Given the description of an element on the screen output the (x, y) to click on. 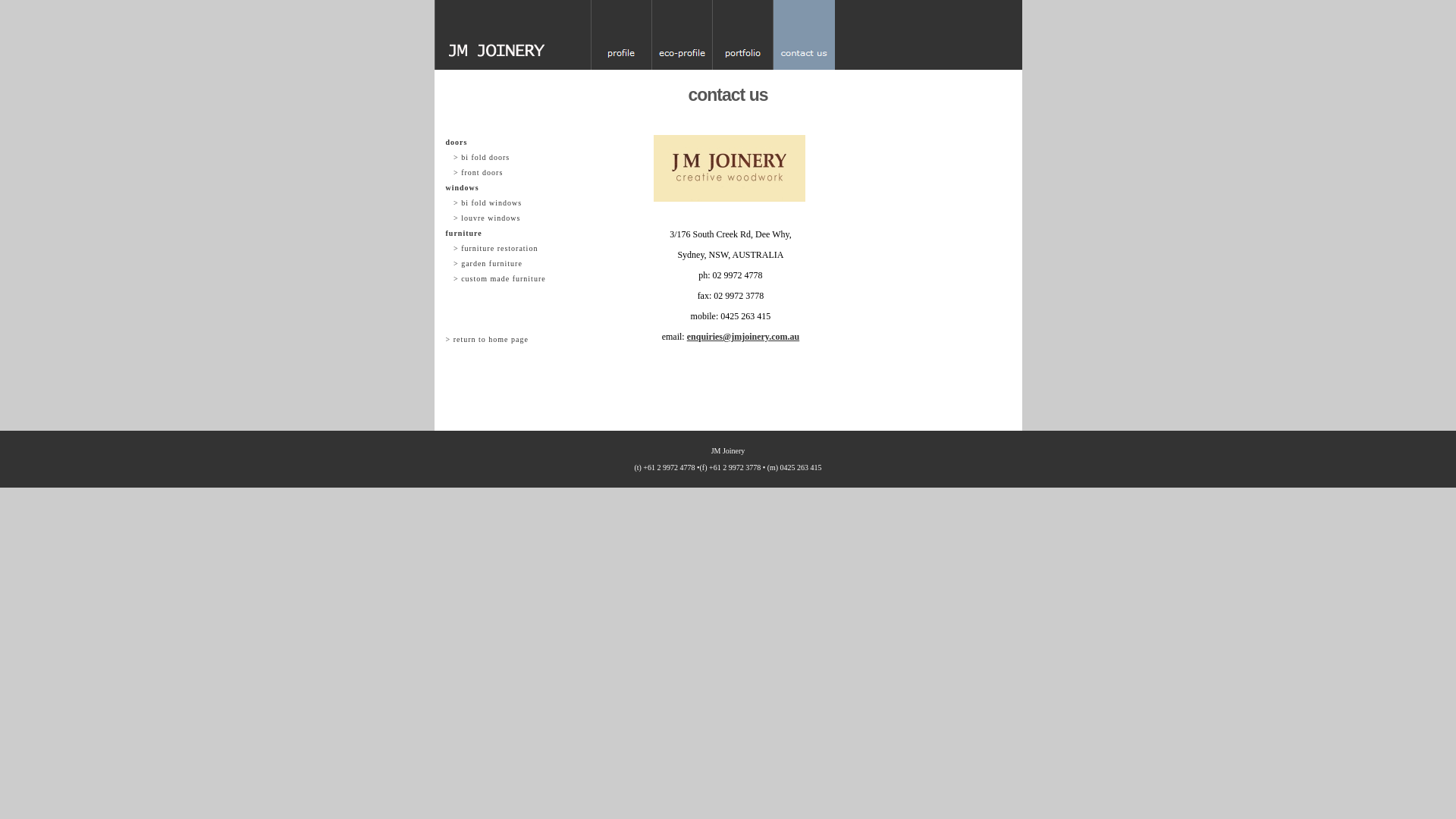
> return to home page Element type: text (505, 339)
   Element type: text (505, 324)
   > custom made furniture Element type: text (505, 278)
enquiries@jmjoinery.com.au Element type: text (743, 336)
   Element type: text (505, 293)
   > garden furniture Element type: text (505, 263)
   > front doors Element type: text (505, 172)
   > bi fold doors Element type: text (505, 157)
doors Element type: text (505, 142)
   > bi fold windows Element type: text (505, 202)
furniture Element type: text (505, 233)
   > furniture restoration Element type: text (505, 248)
   > louvre windows Element type: text (505, 217)
windows Element type: text (505, 187)
   Element type: text (505, 308)
